Given the description of an element on the screen output the (x, y) to click on. 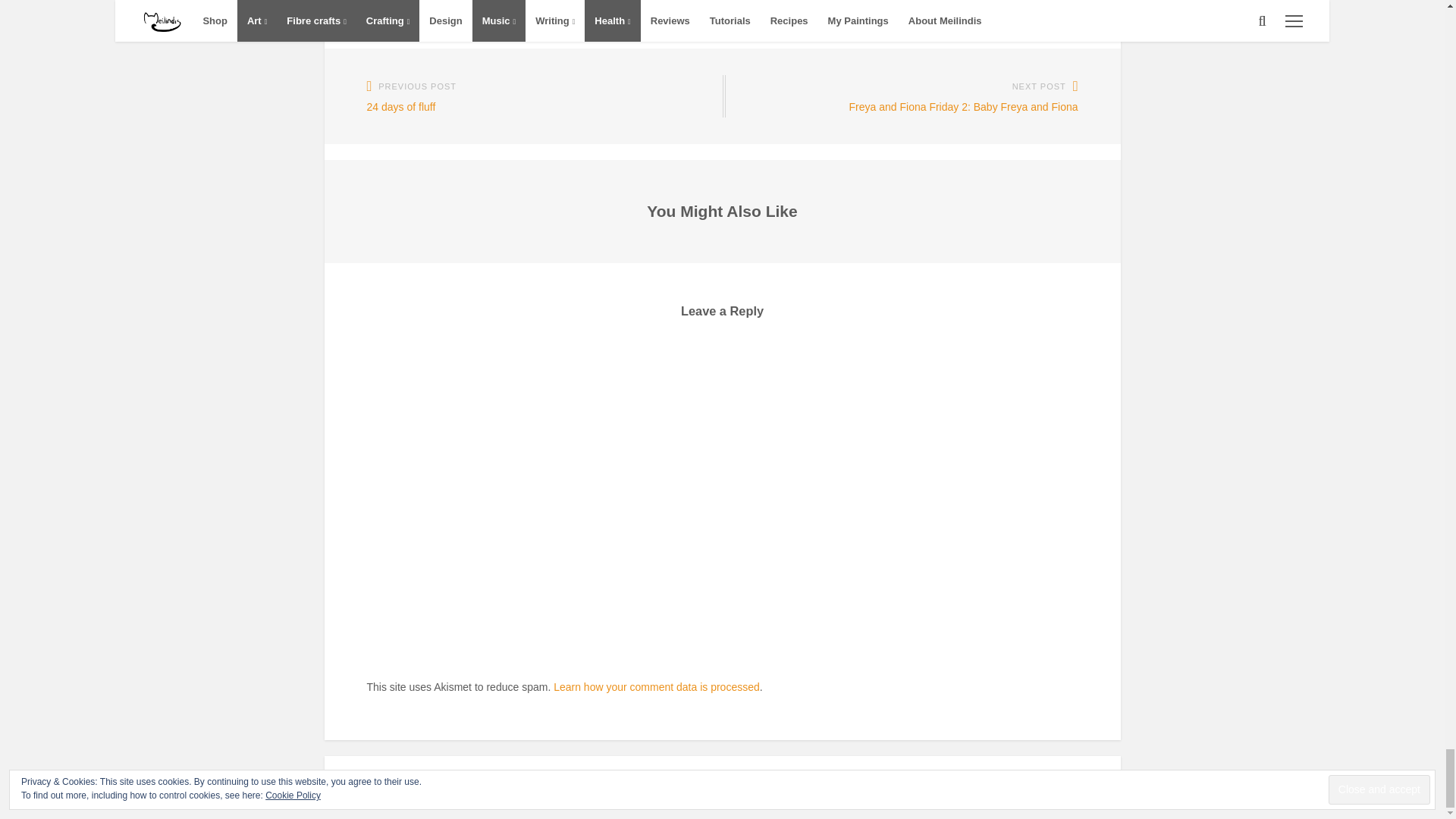
Email (1113, 801)
Instagram (1102, 801)
